Given the description of an element on the screen output the (x, y) to click on. 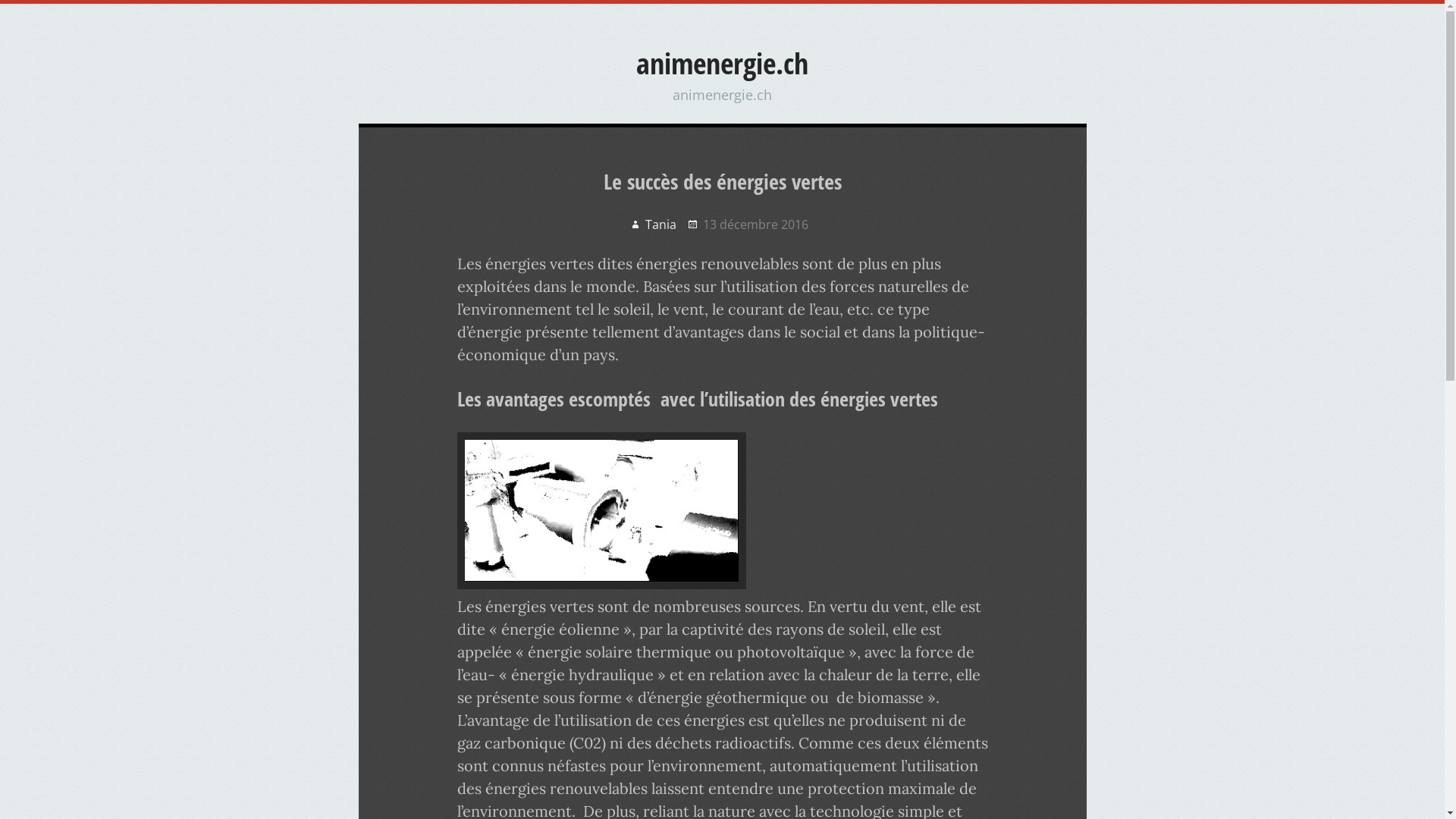
Tania Element type: text (652, 224)
animenergie.ch Element type: text (722, 62)
